Given the description of an element on the screen output the (x, y) to click on. 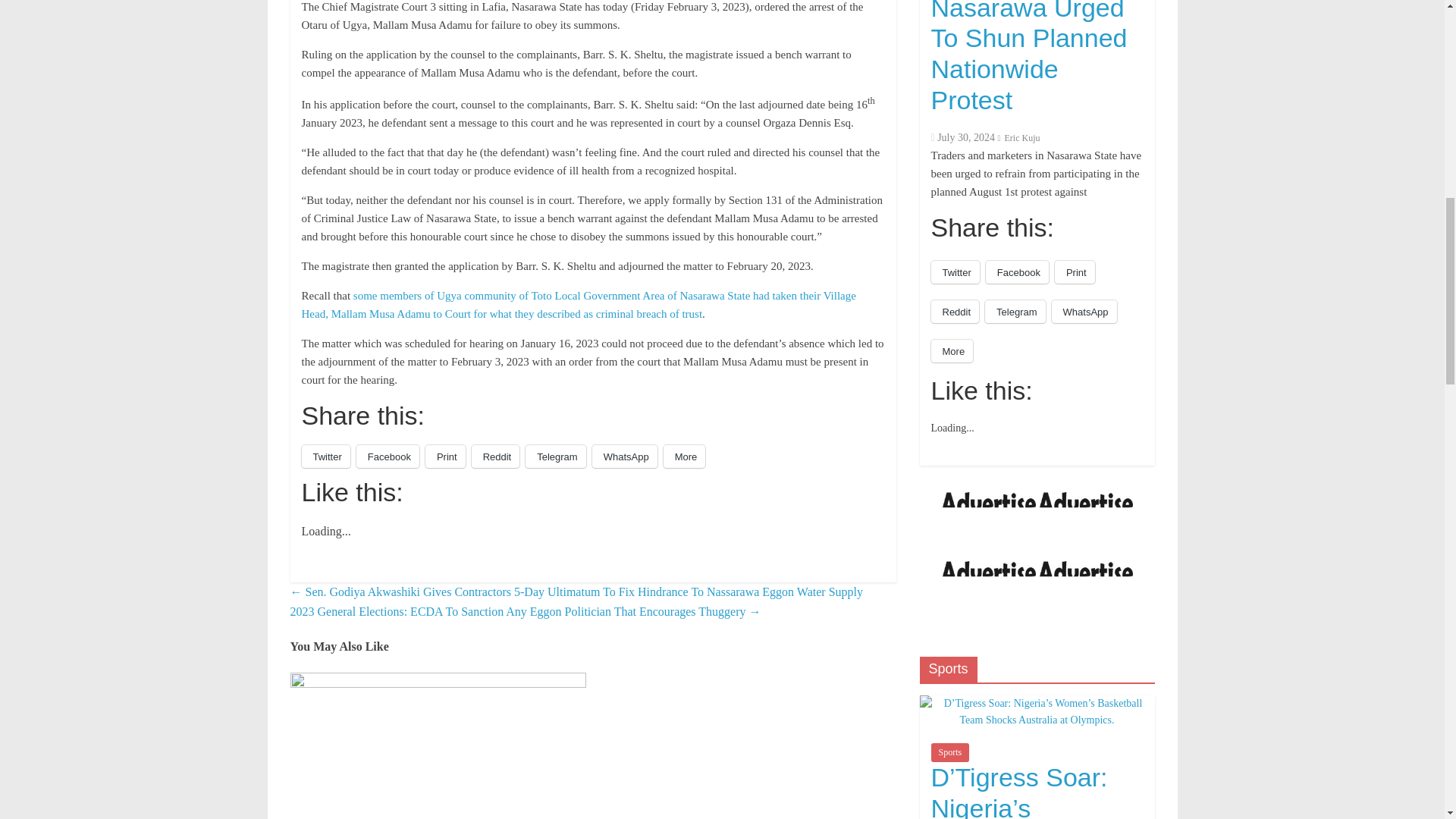
Click to share on Twitter (325, 456)
Click to share on WhatsApp (625, 456)
Twitter (325, 456)
Click to share on Telegram (555, 456)
Click to share on Facebook (387, 456)
Click to print (445, 456)
Click to share on Reddit (495, 456)
